Given the description of an element on the screen output the (x, y) to click on. 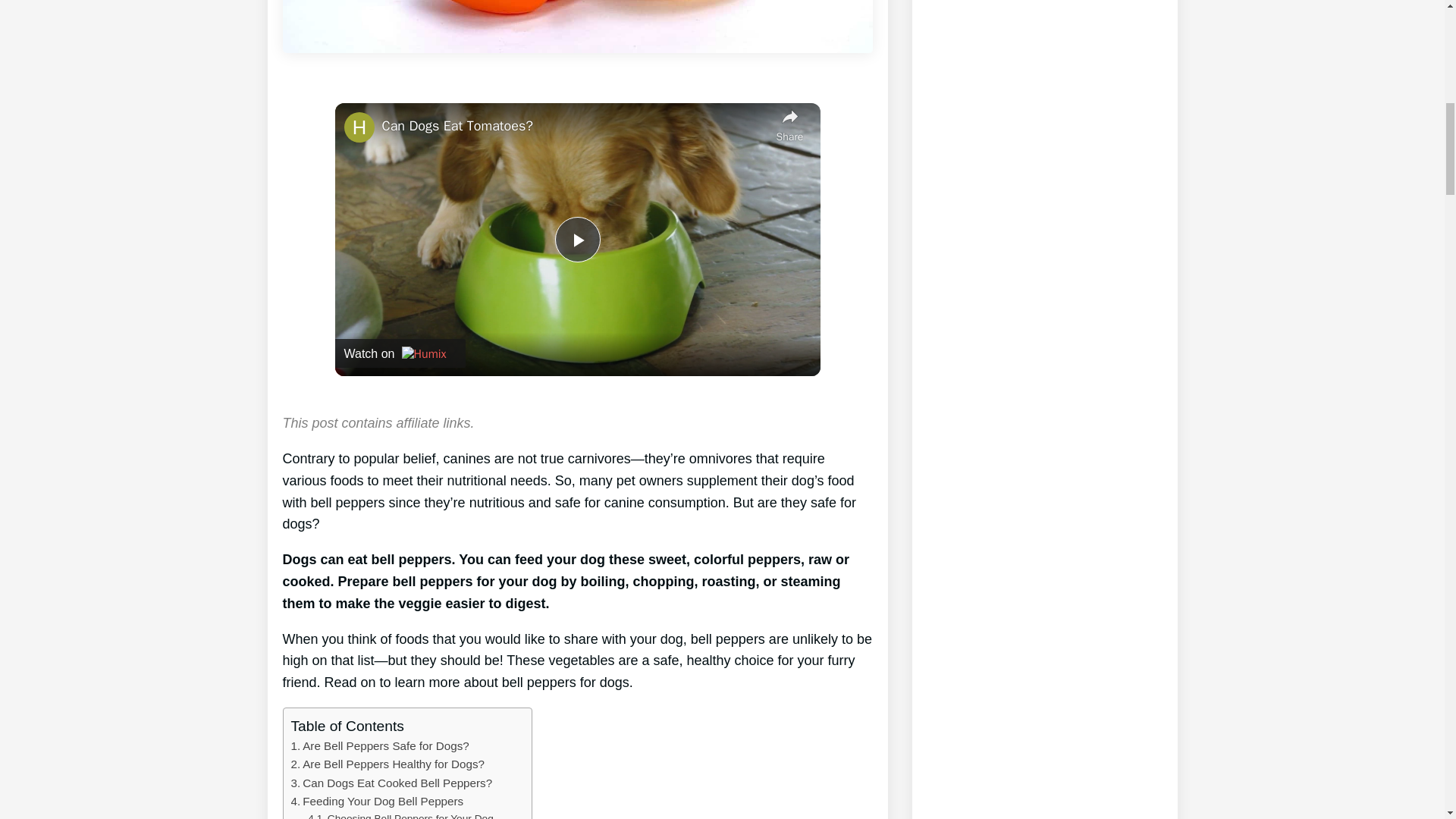
Feeding Your Dog Bell Peppers (377, 801)
Are Bell Peppers Healthy for Dogs? (387, 764)
Play Video (576, 239)
Choosing Bell Peppers for Your Dog (400, 814)
Watch on (399, 353)
Are Bell Peppers Safe for Dogs? (379, 746)
Are Bell Peppers Healthy for Dogs? (387, 764)
Choosing Bell Peppers for Your Dog (400, 814)
Can Dogs Eat Cooked Bell Peppers? (392, 782)
Play Video (576, 239)
